Given the description of an element on the screen output the (x, y) to click on. 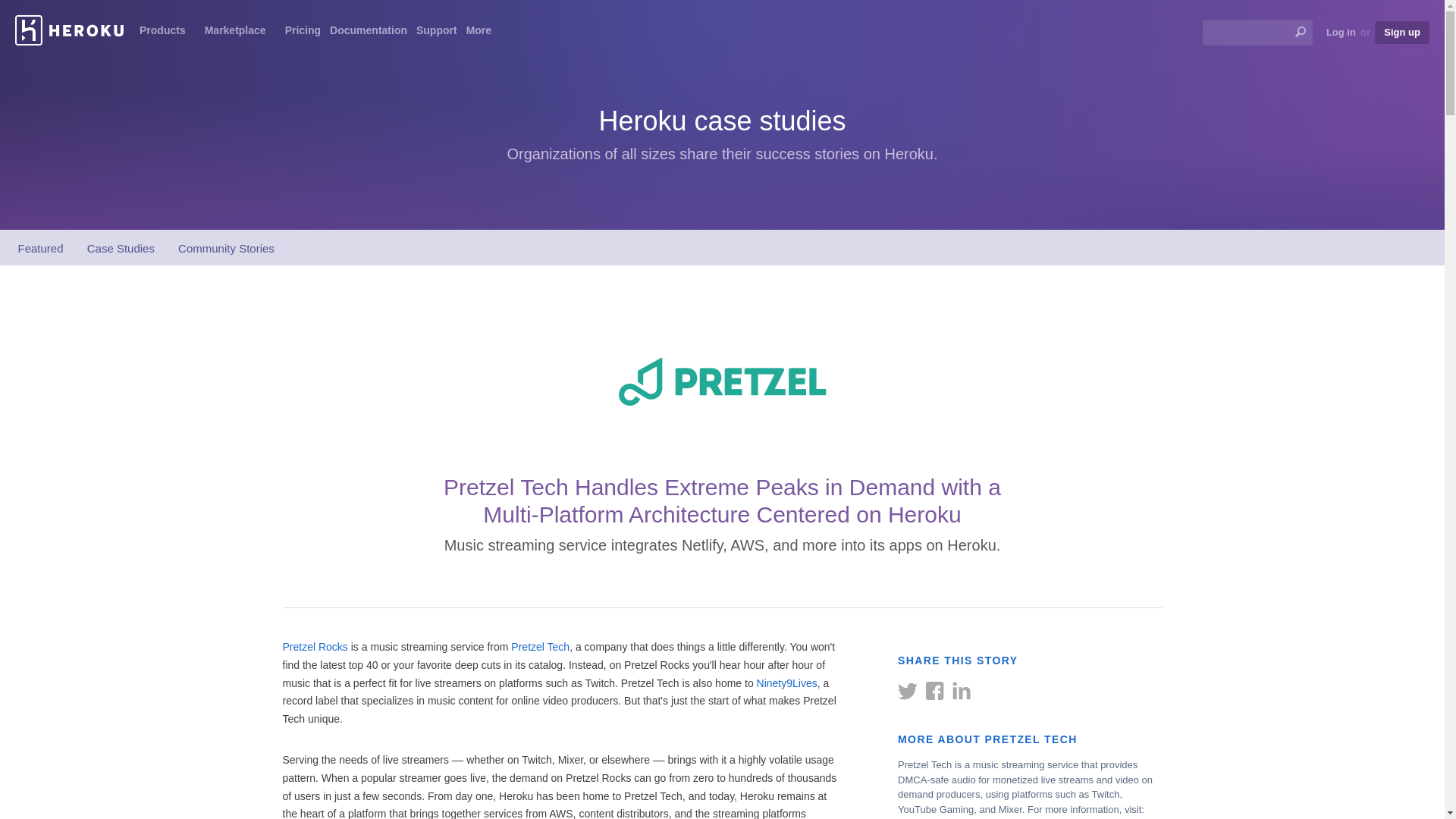
search (1257, 32)
Pricing (302, 32)
Documentation (368, 32)
More (482, 32)
Support (436, 32)
Heroku (68, 30)
Marketplace (240, 32)
Products (167, 32)
